Given the description of an element on the screen output the (x, y) to click on. 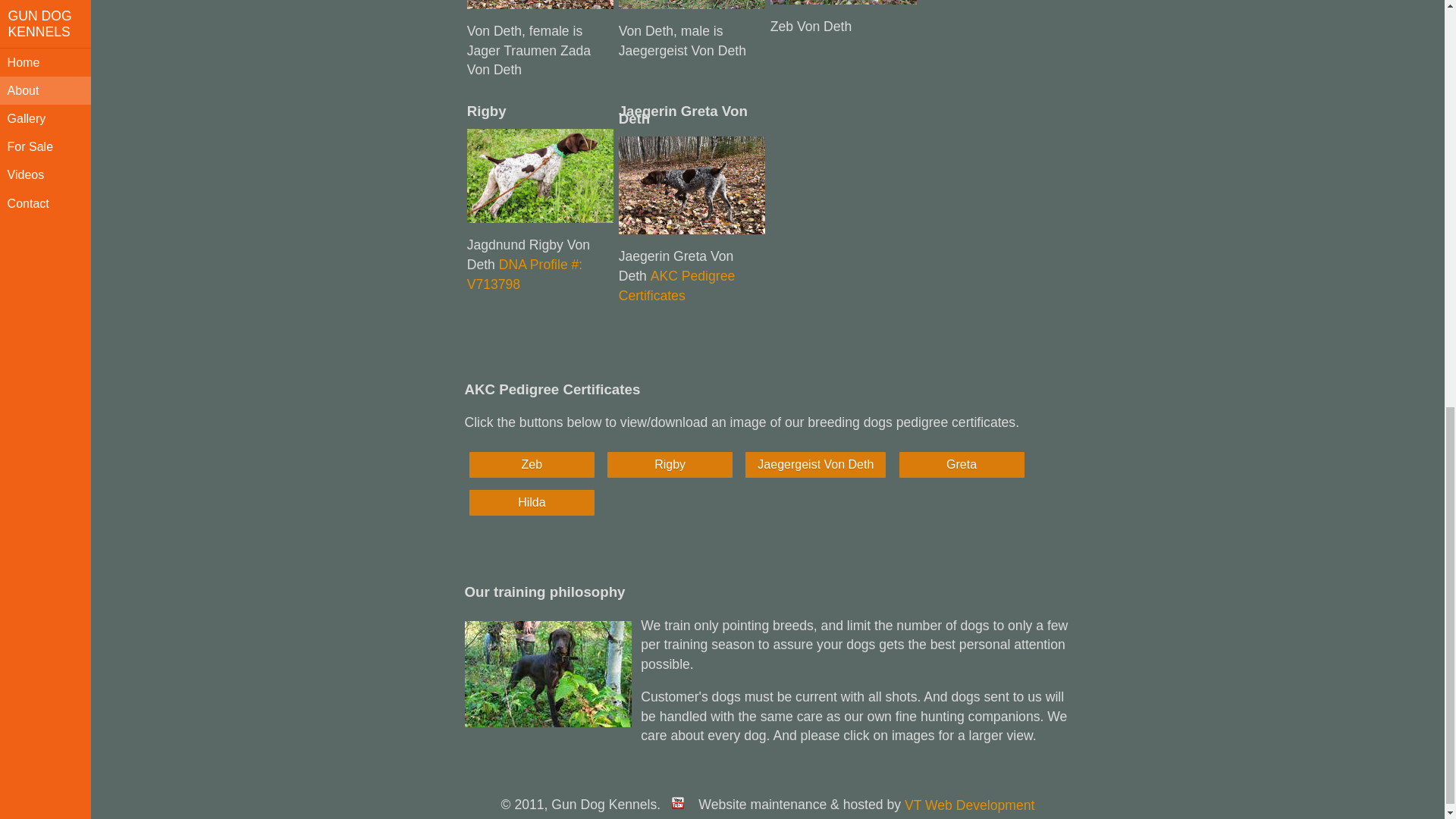
Hilda (531, 502)
Rigby (669, 463)
AKC Pedigree Certificates (676, 285)
Greta (961, 463)
Greta (962, 464)
Hilda (531, 502)
Zeb (531, 464)
Jaegergeist Von Deth (815, 464)
Zeb (532, 463)
Jaegergeist Von Deth (815, 463)
